Given the description of an element on the screen output the (x, y) to click on. 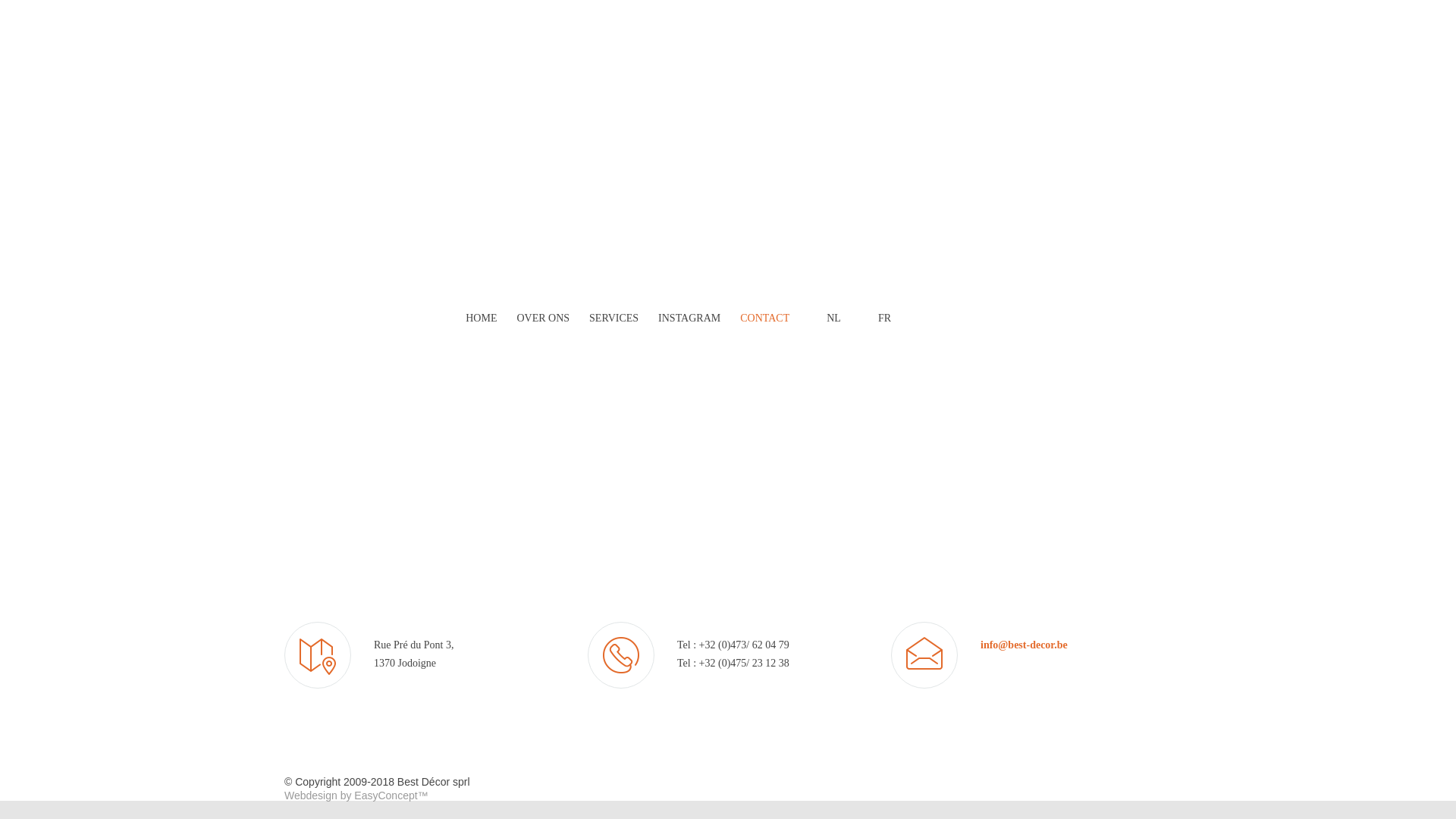
FR Element type: text (865, 318)
NL Element type: text (814, 318)
info@best-decor.be Element type: text (1023, 644)
SERVICES Element type: text (603, 318)
FR Element type: hover (867, 316)
HOME Element type: text (470, 318)
INSTAGRAM Element type: text (679, 318)
NL Element type: hover (815, 316)
CONTACT Element type: text (754, 318)
OVER ONS Element type: text (532, 318)
